Given the description of an element on the screen output the (x, y) to click on. 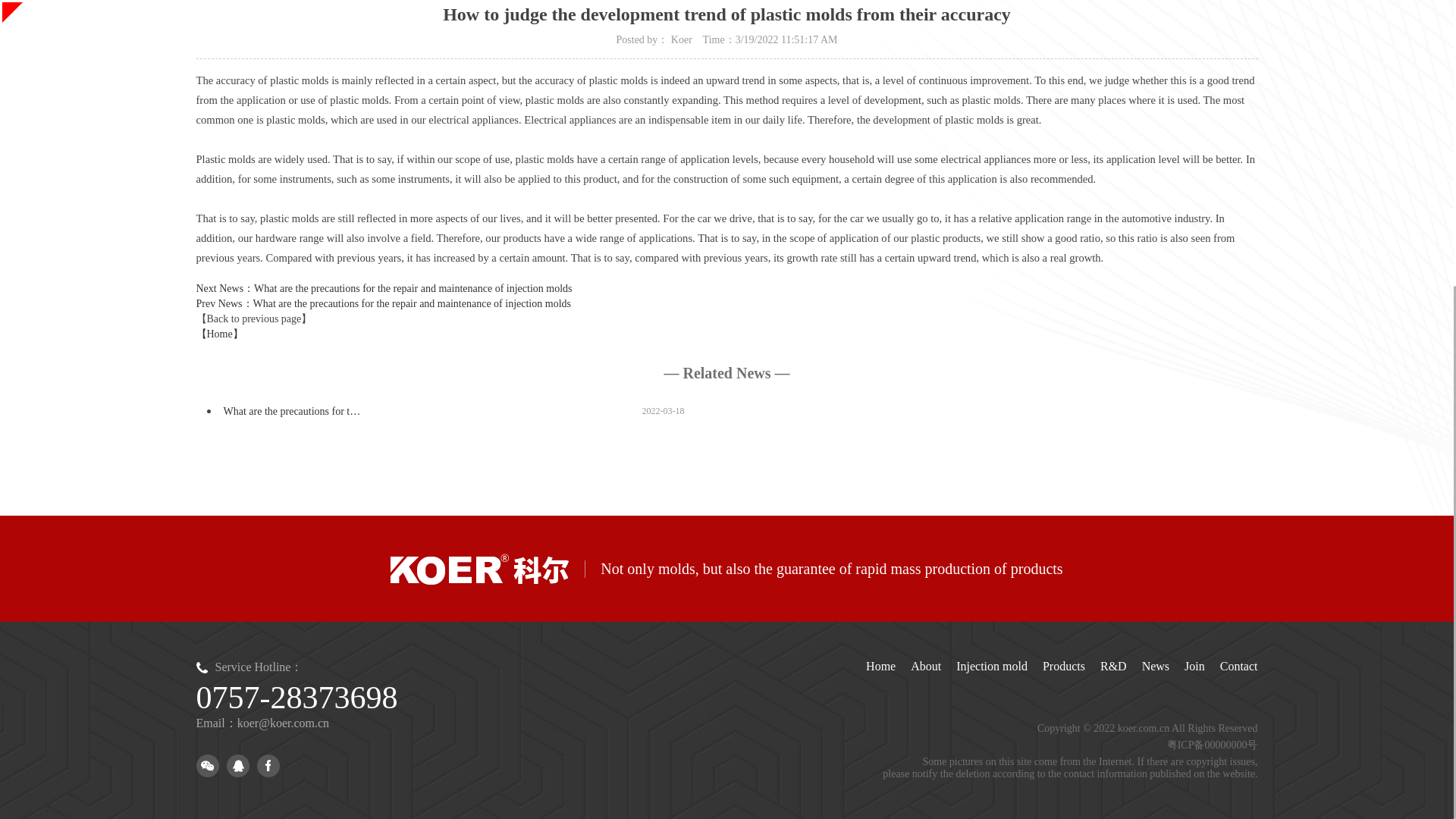
Injection mold (991, 666)
Home (880, 666)
0757-28373698 (296, 697)
Contact (1238, 666)
Join (1195, 666)
About (925, 666)
Products (1063, 666)
News (1155, 666)
